Given the description of an element on the screen output the (x, y) to click on. 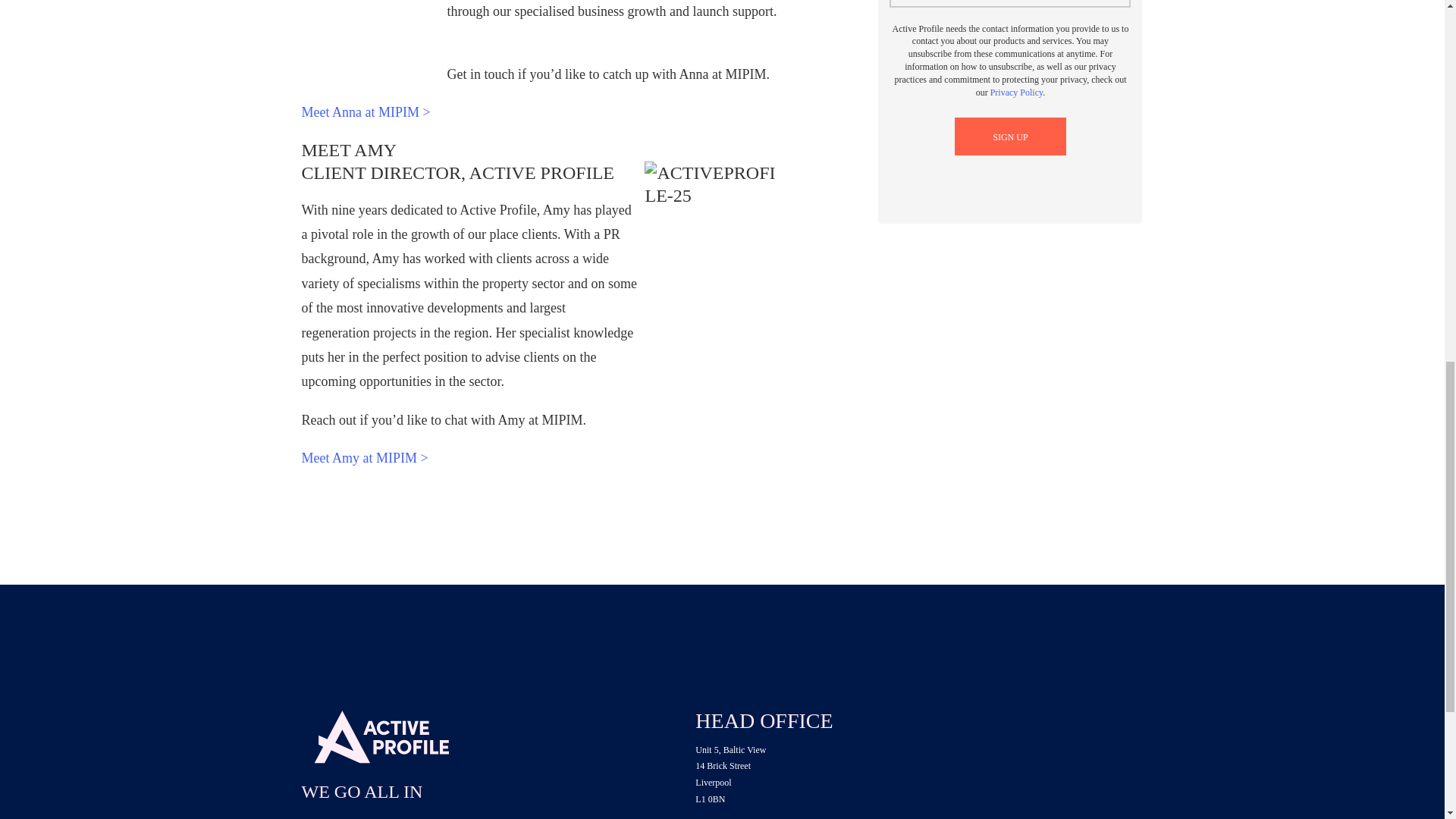
SIGN UP (1010, 136)
Privacy Policy (1016, 91)
SIGN UP (1010, 136)
